Given the description of an element on the screen output the (x, y) to click on. 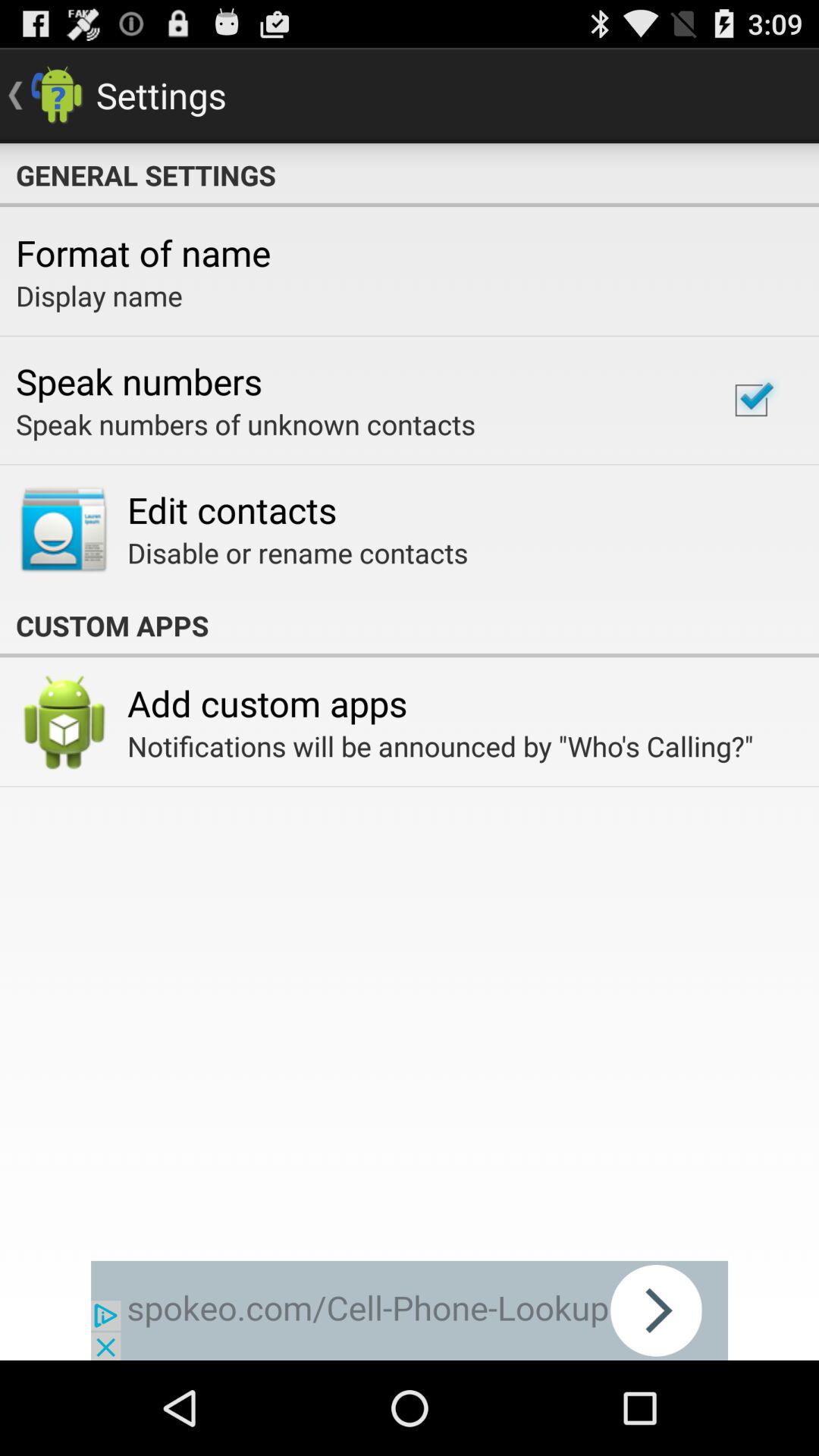
banner advertisement (409, 1310)
